Given the description of an element on the screen output the (x, y) to click on. 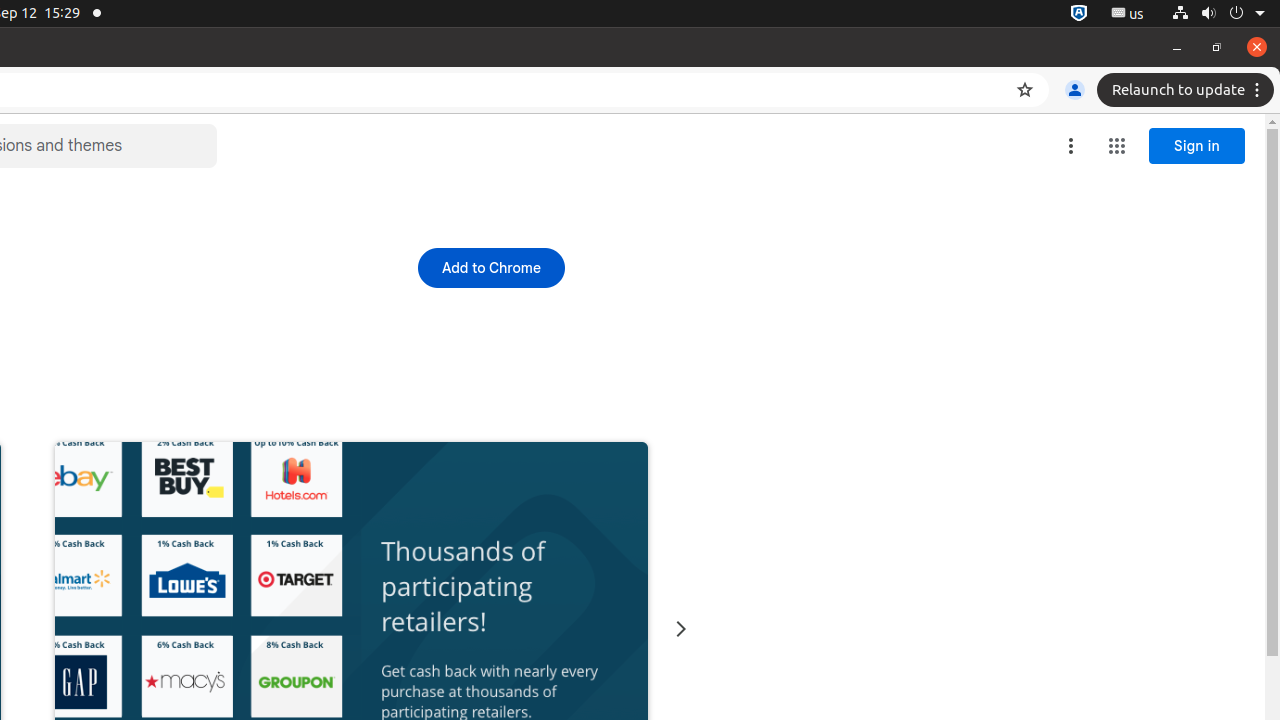
Relaunch to update Element type: push-button (1188, 90)
Google apps Element type: push-button (1117, 145)
Add to Chrome Element type: push-button (491, 268)
:1.21/StatusNotifierItem Element type: menu (1127, 13)
More options menu Element type: push-button (1071, 145)
